Given the description of an element on the screen output the (x, y) to click on. 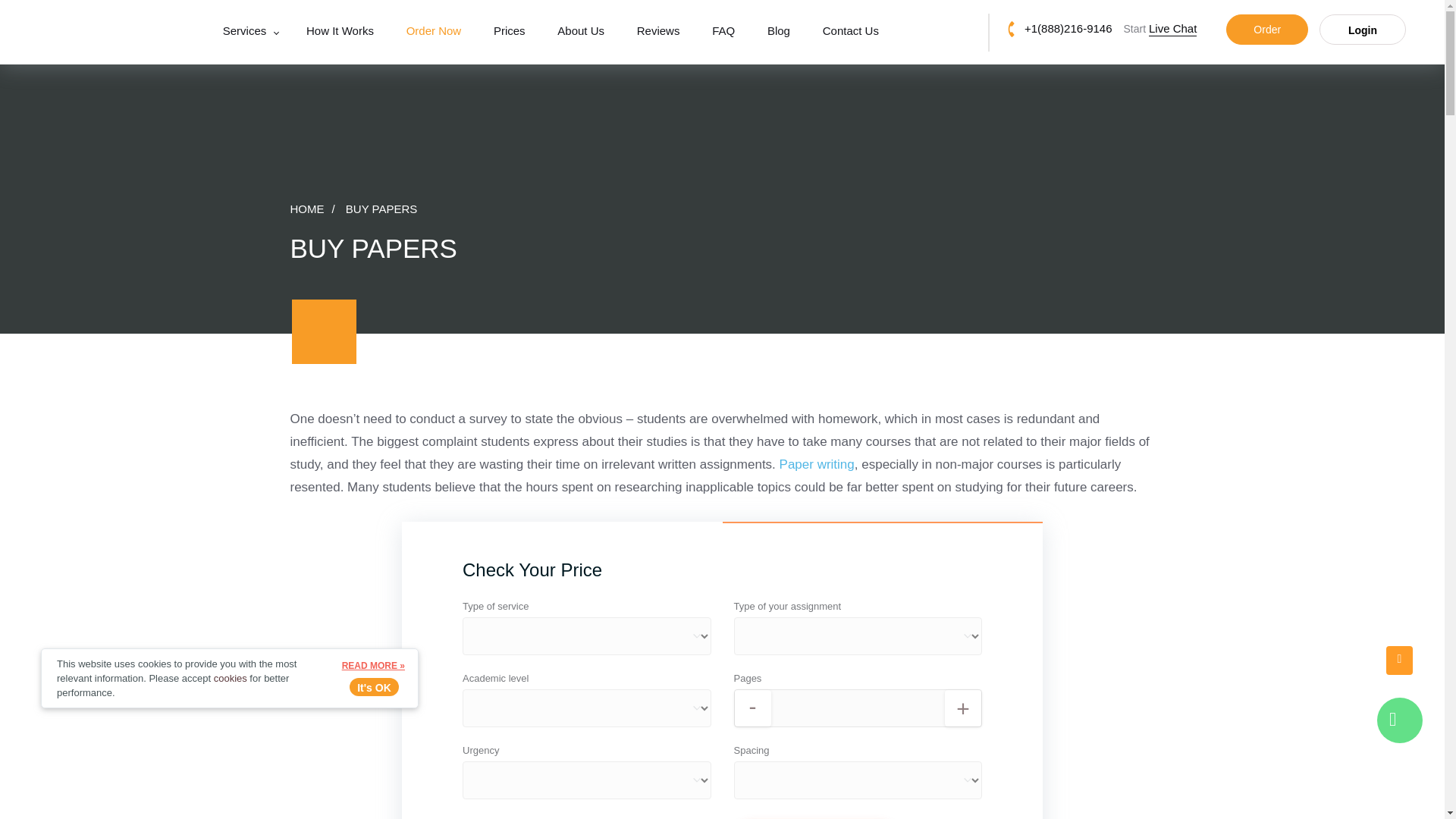
About Us (580, 30)
It's OK (373, 687)
Prices (509, 30)
Reviews (658, 30)
Minus (751, 708)
Live Chat (1399, 719)
How It Works (339, 30)
Order Now (433, 30)
Contact Us (850, 30)
Plus (962, 708)
Order (1266, 29)
FAQ (723, 30)
Blog (778, 30)
